Given the description of an element on the screen output the (x, y) to click on. 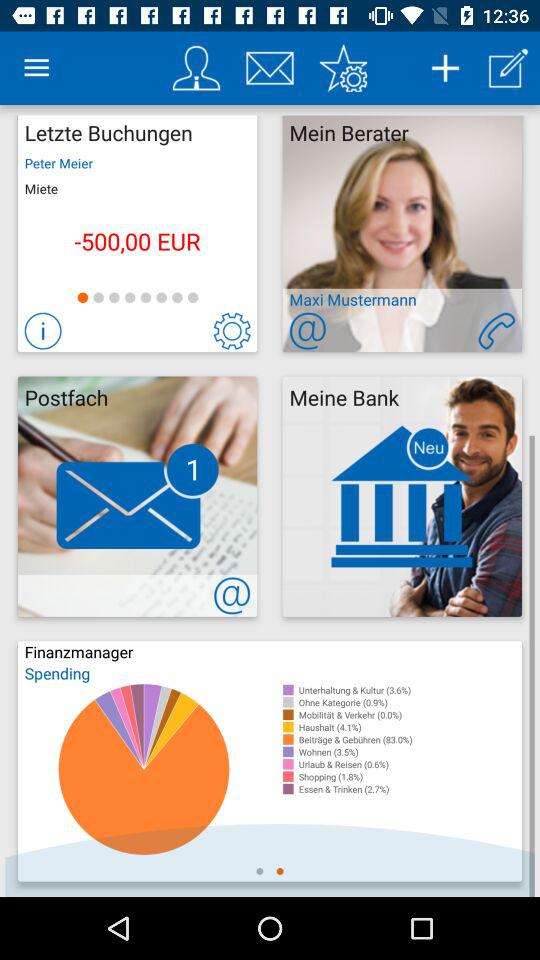
click haushalt (4.1%) (409, 727)
